Given the description of an element on the screen output the (x, y) to click on. 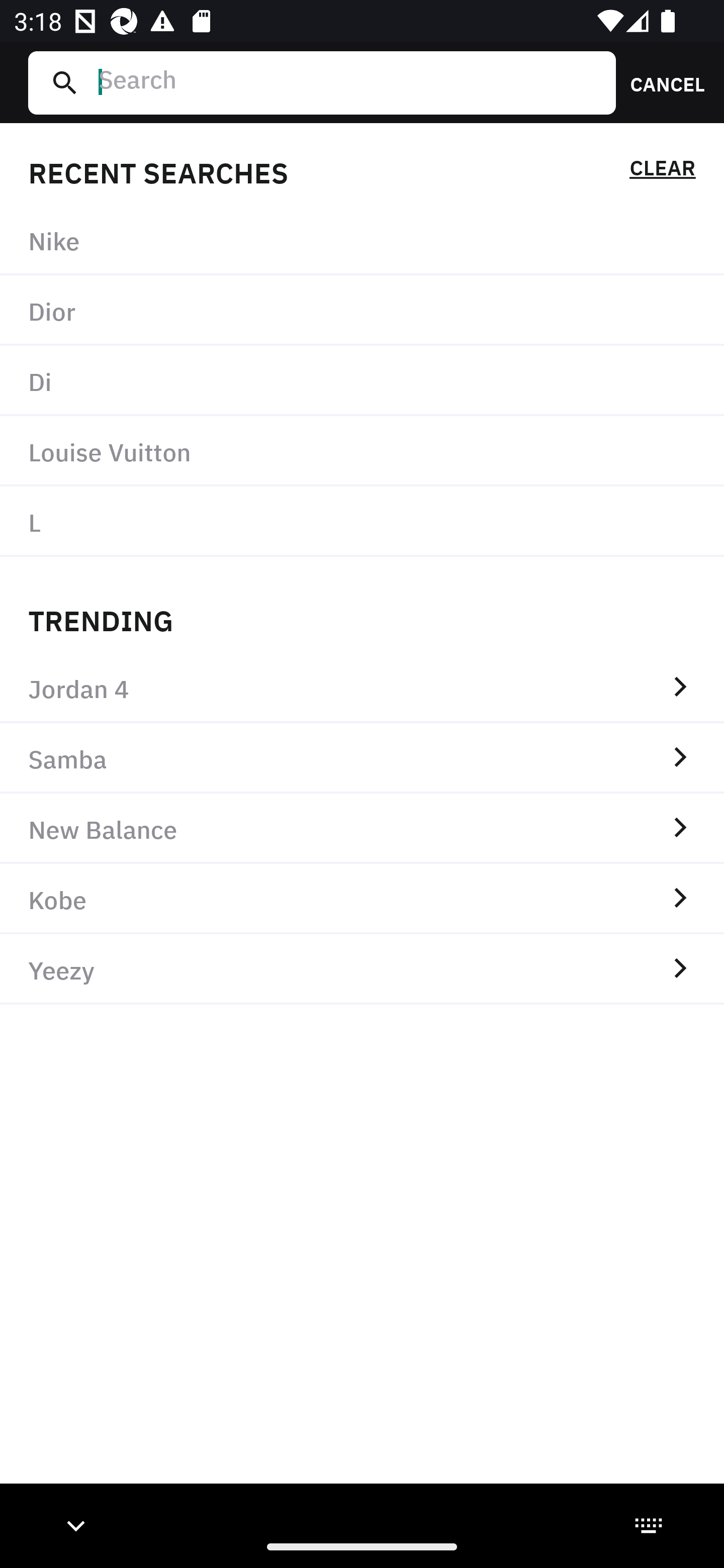
CANCEL (660, 82)
Search (349, 82)
CLEAR (662, 170)
Nike (362, 240)
Dior (362, 310)
Di (362, 380)
Louise Vuitton (362, 450)
L (362, 521)
Jordan 4  (362, 687)
Samba  (362, 757)
New Balance  (362, 828)
Kobe  (362, 898)
Yeezy  (362, 969)
